Given the description of an element on the screen output the (x, y) to click on. 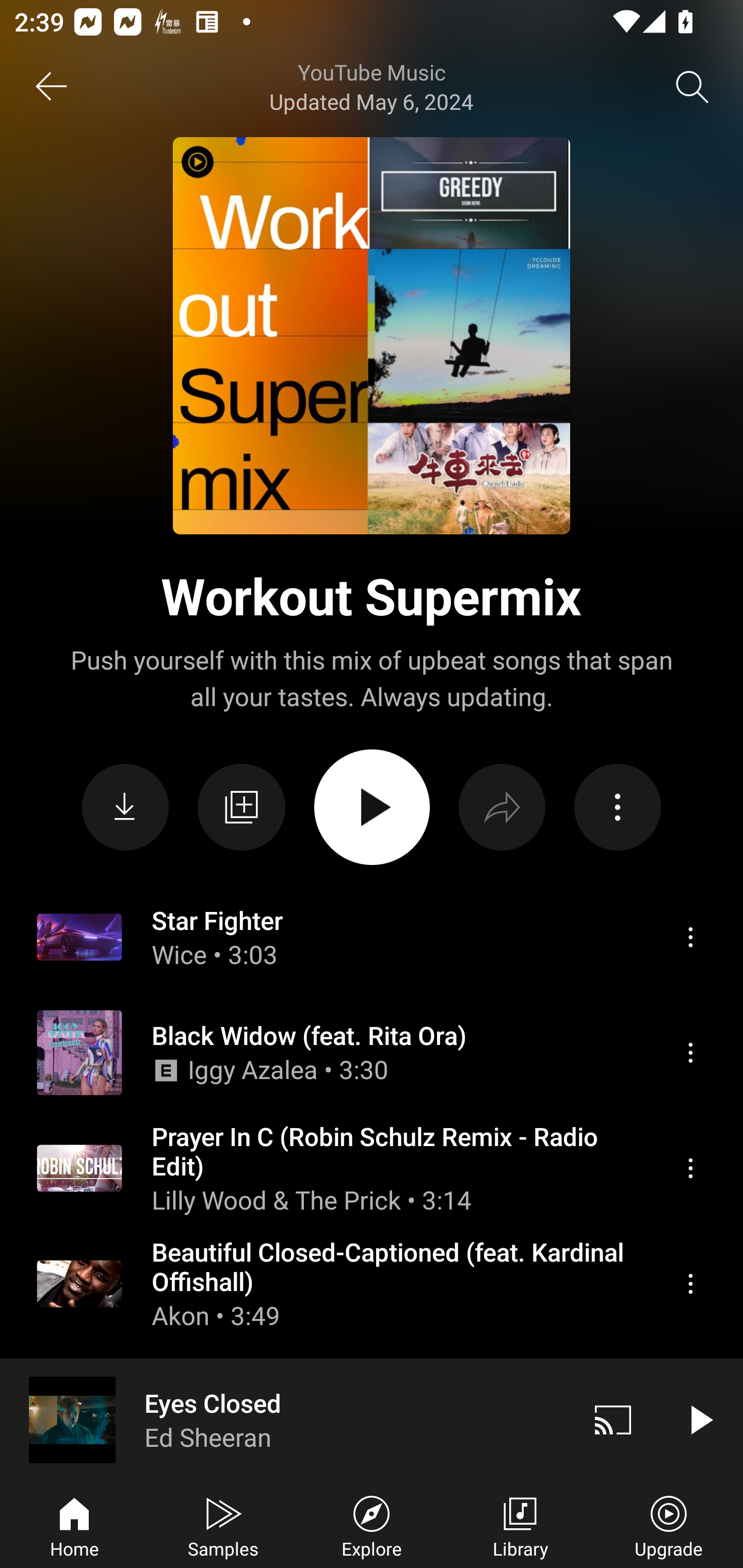
Back (50, 86)
Search (692, 86)
PLAY ALL (371, 807)
Download (125, 807)
Sharing unavailable (501, 807)
Action menu (617, 807)
Save to library (241, 806)
Menu (690, 937)
Menu (690, 1052)
Menu (690, 1168)
Menu (690, 1284)
Eyes Closed Ed Sheeran (284, 1419)
Cast. Disconnected (612, 1419)
Play video (699, 1419)
Home (74, 1524)
Samples (222, 1524)
Explore (371, 1524)
Library (519, 1524)
Upgrade (668, 1524)
